Given the description of an element on the screen output the (x, y) to click on. 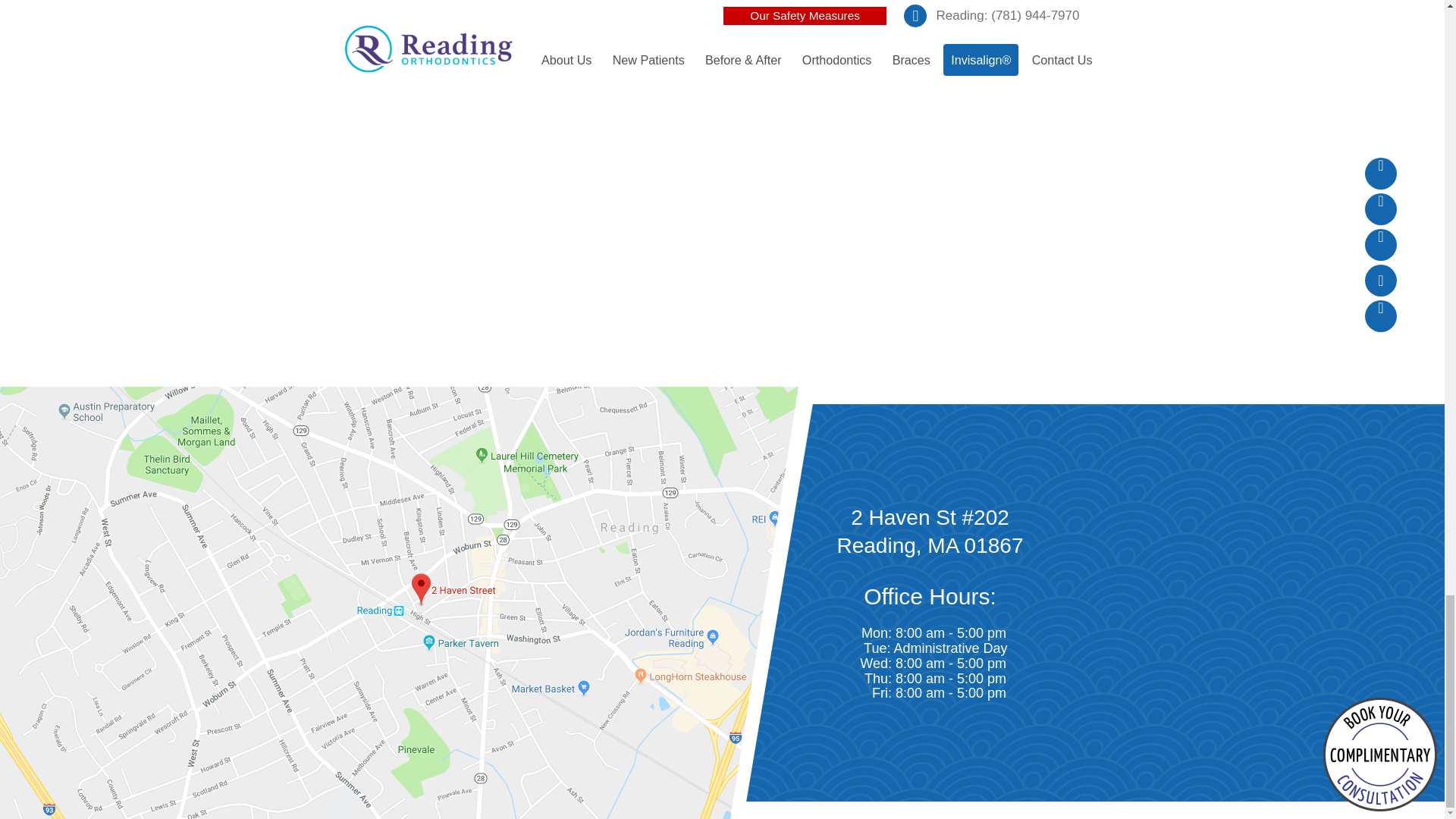
YouTube video player (251, 39)
YouTube video player (721, 39)
YouTube video player (1192, 39)
YouTube video player (721, 244)
